Given the description of an element on the screen output the (x, y) to click on. 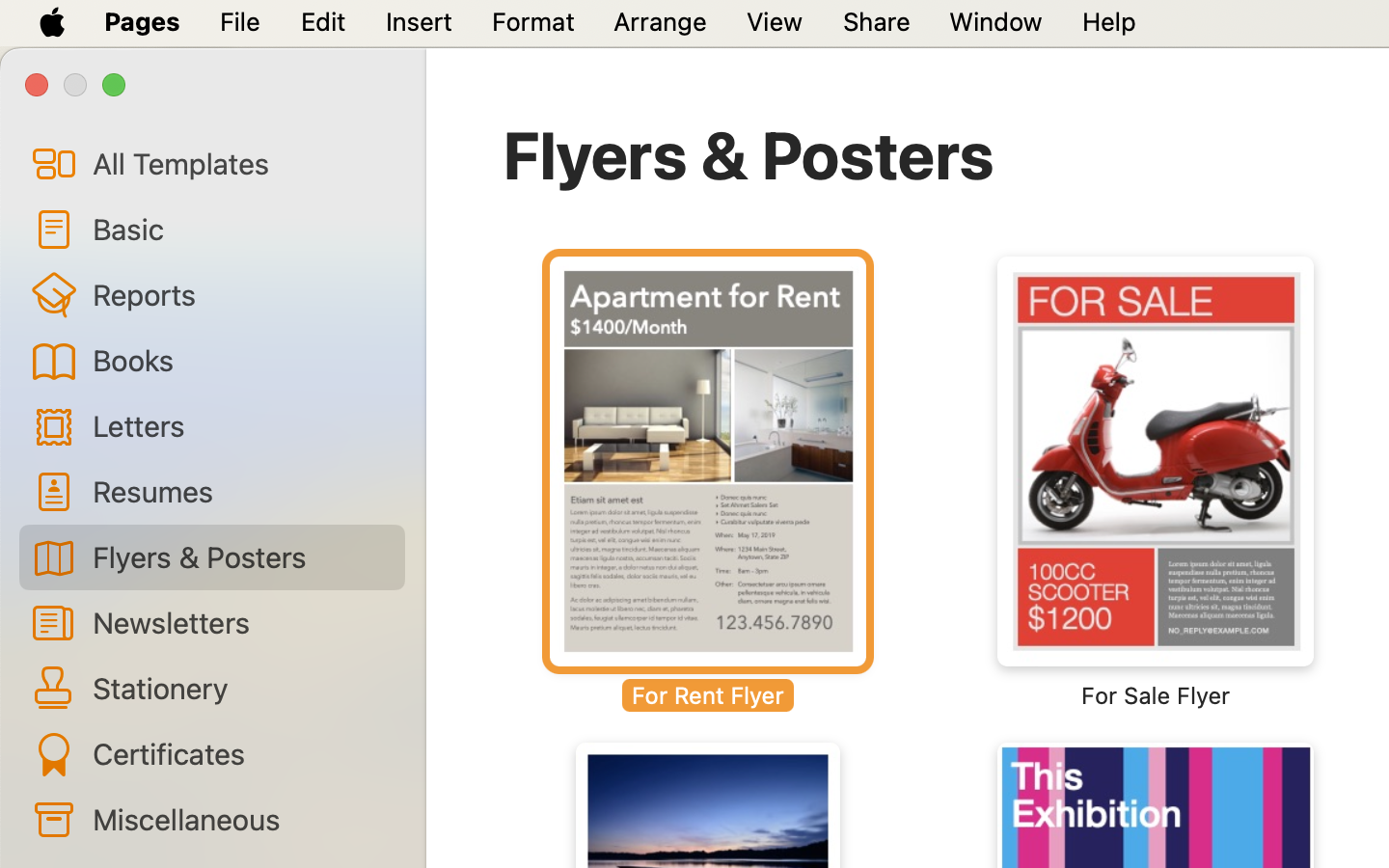
Stationery Element type: AXStaticText (240, 687)
Miscellaneous Element type: AXStaticText (240, 818)
Books Element type: AXStaticText (240, 359)
